Given the description of an element on the screen output the (x, y) to click on. 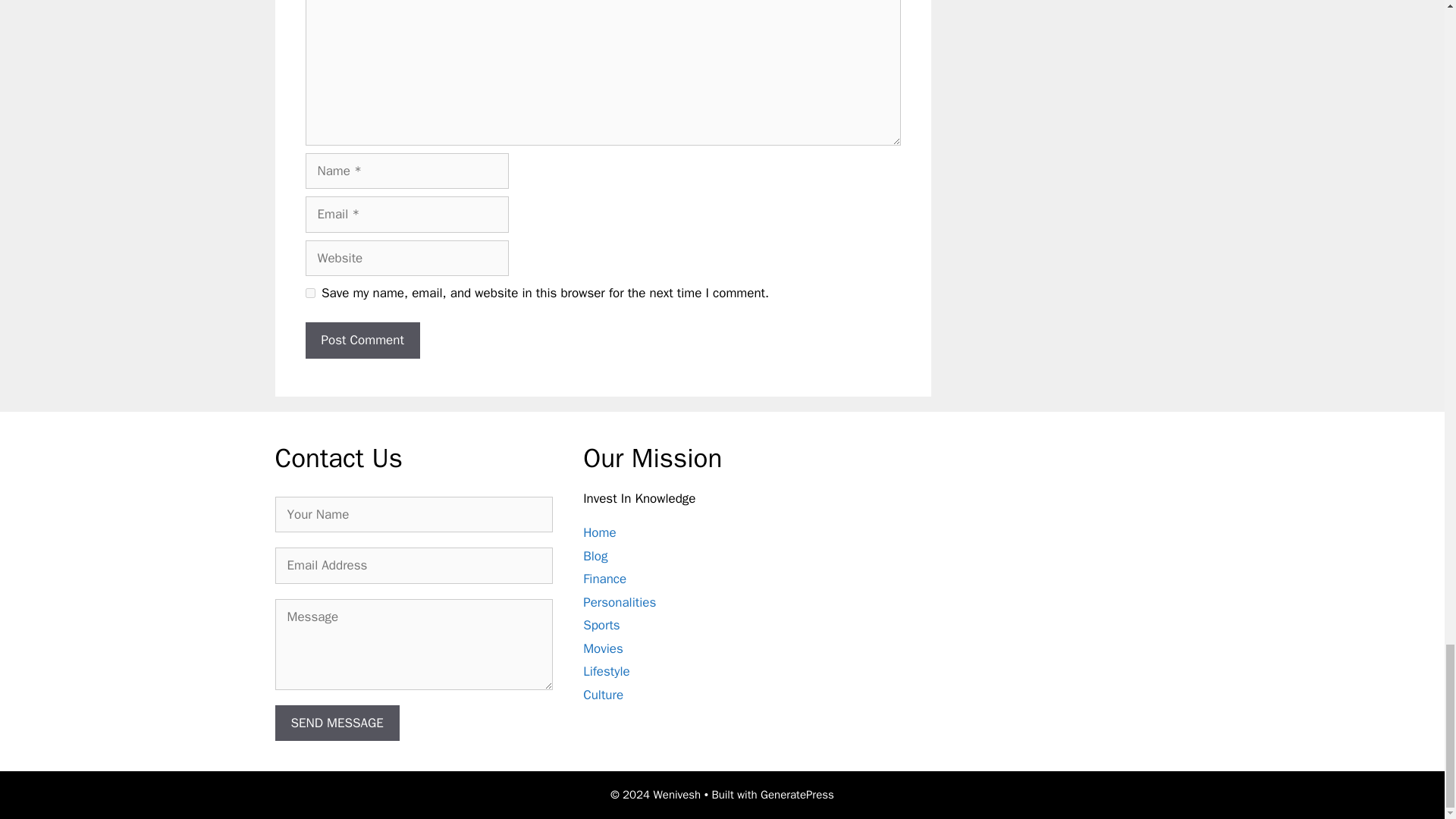
yes (309, 293)
Post Comment (361, 340)
